Given the description of an element on the screen output the (x, y) to click on. 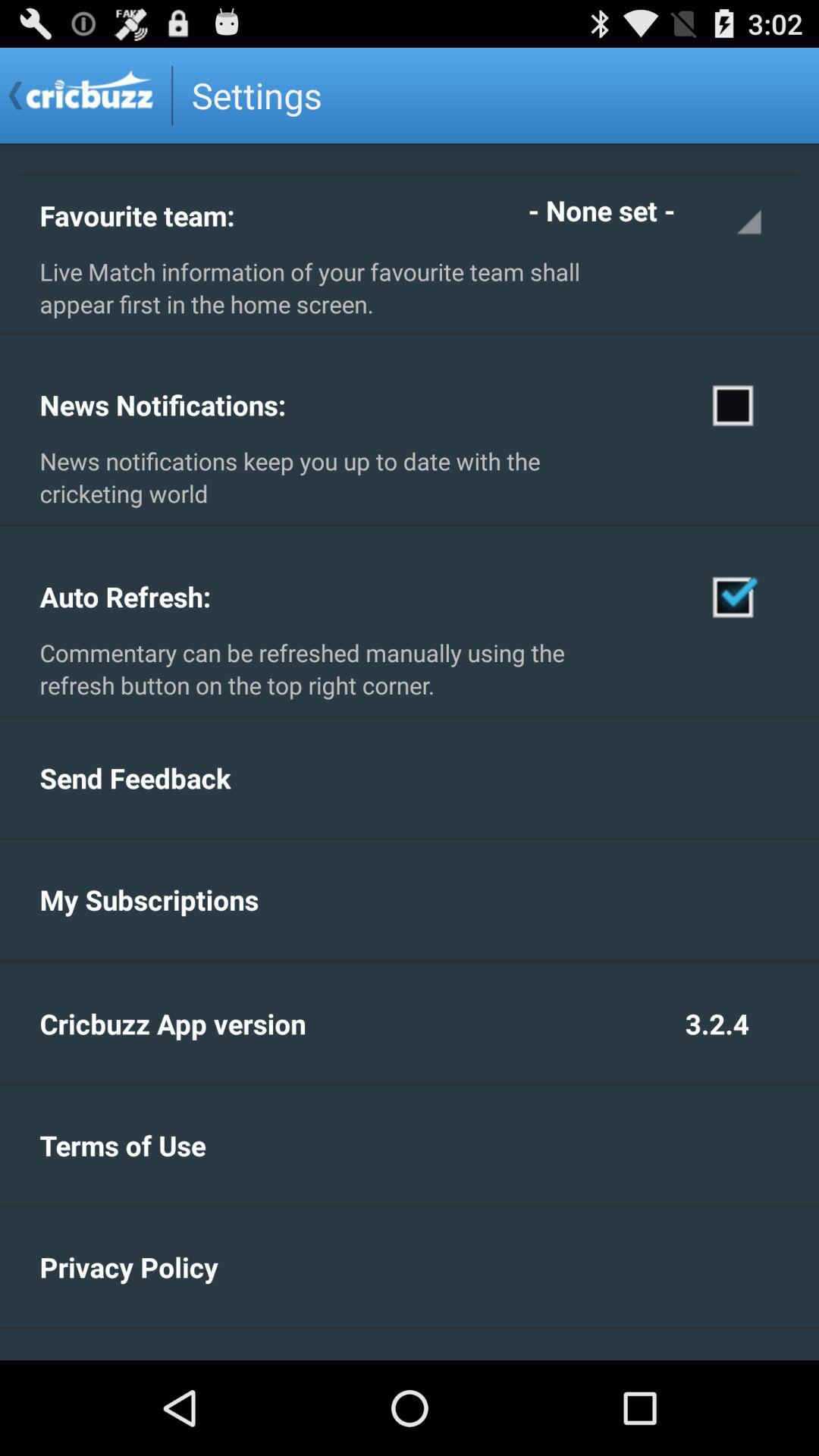
notification checkbox (733, 404)
